Given the description of an element on the screen output the (x, y) to click on. 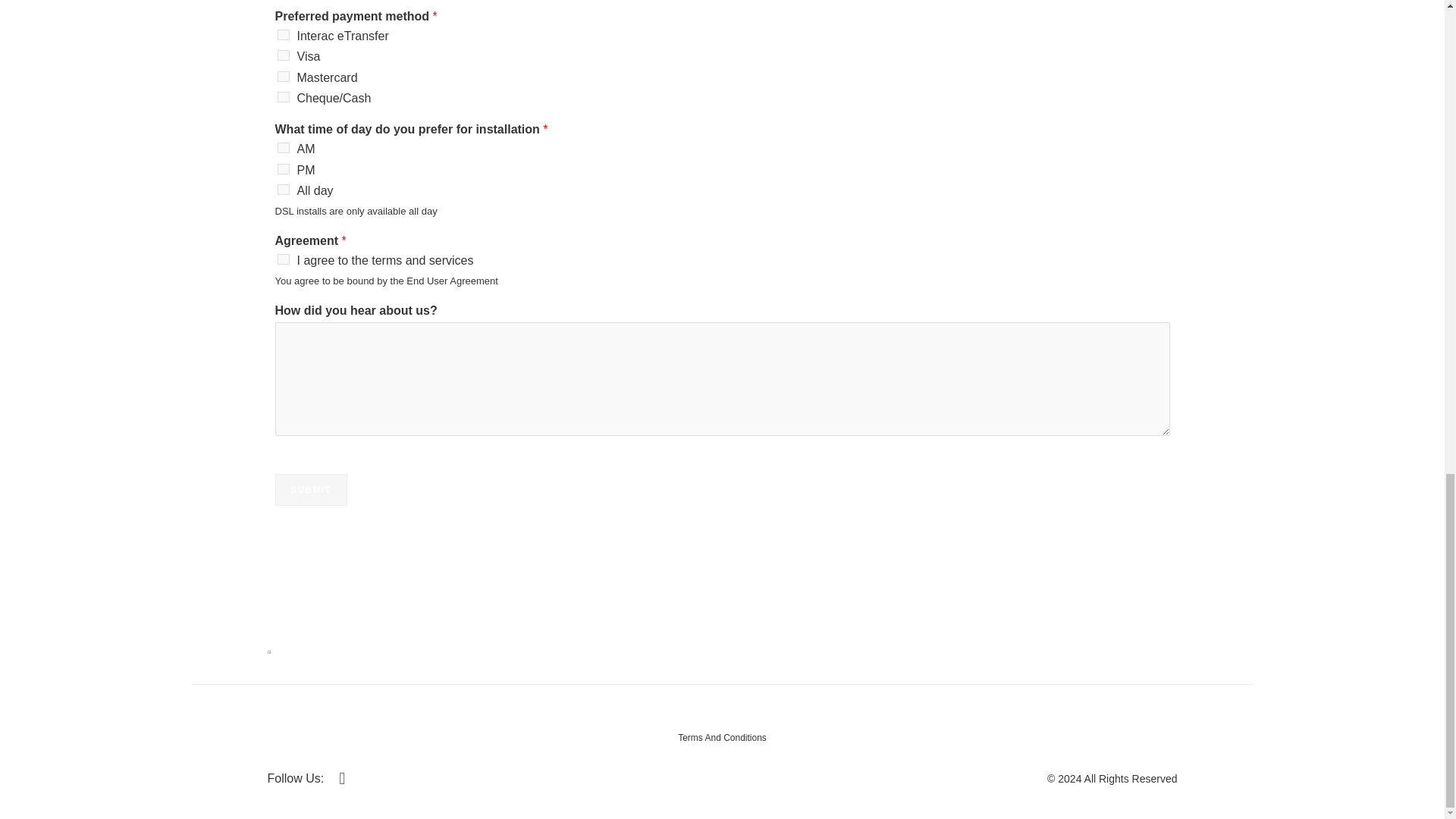
Interac eTransfer (283, 34)
Mastercard (283, 76)
Visa (283, 54)
End User Agreement (451, 280)
Terms And Conditions (721, 737)
SUBMIT (310, 490)
